Given the description of an element on the screen output the (x, y) to click on. 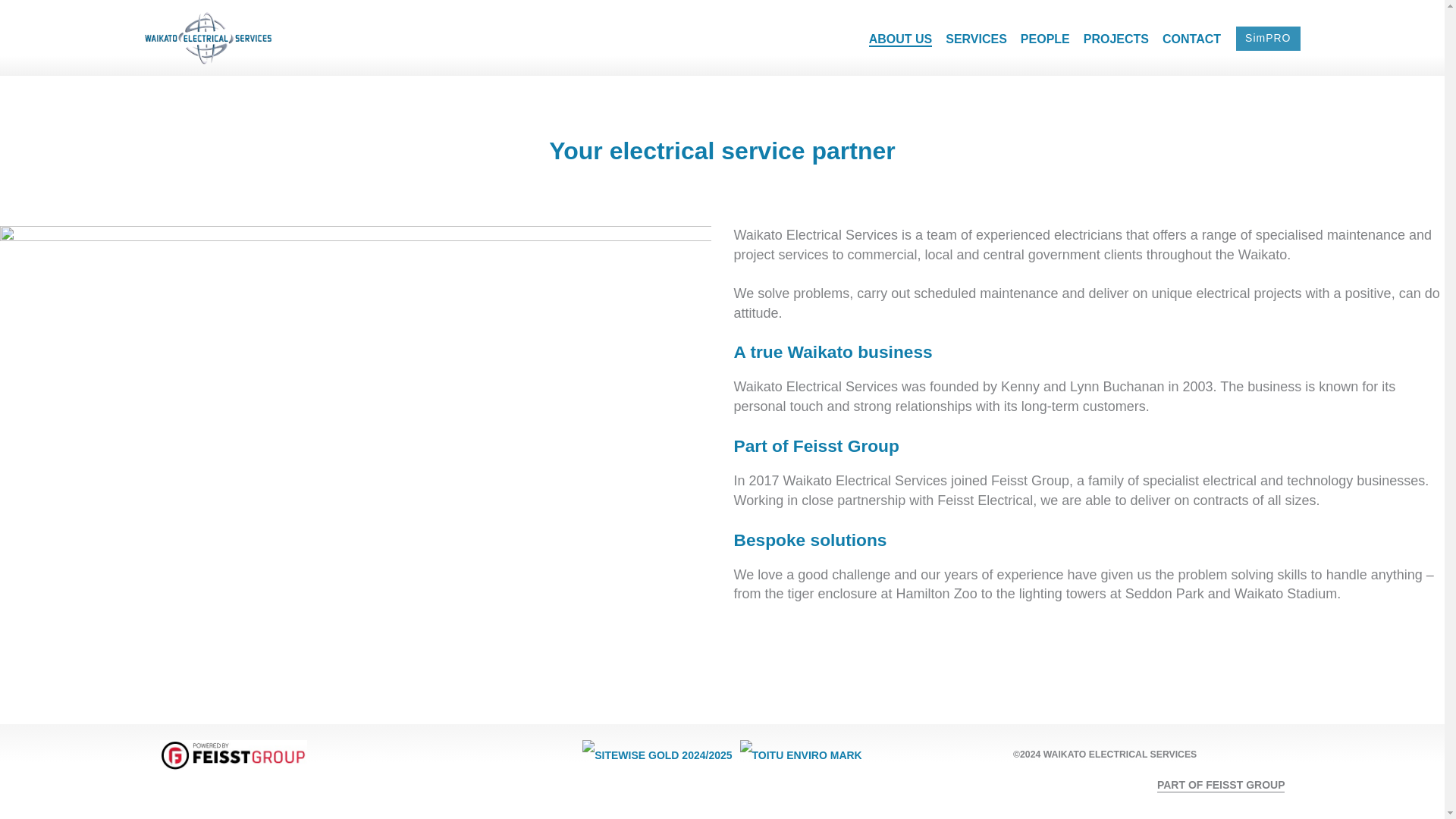
PART OF FEISST GROUP (1221, 785)
SimPRO (1268, 38)
ABOUT US (901, 38)
SERVICES (975, 38)
CONTACT (1191, 38)
Part of Feisst Group (1221, 785)
PROJECTS (1115, 38)
Waikato Electrical Services home page (209, 37)
PEOPLE (1045, 38)
Waikato Electrical Services home page (231, 754)
